Given the description of an element on the screen output the (x, y) to click on. 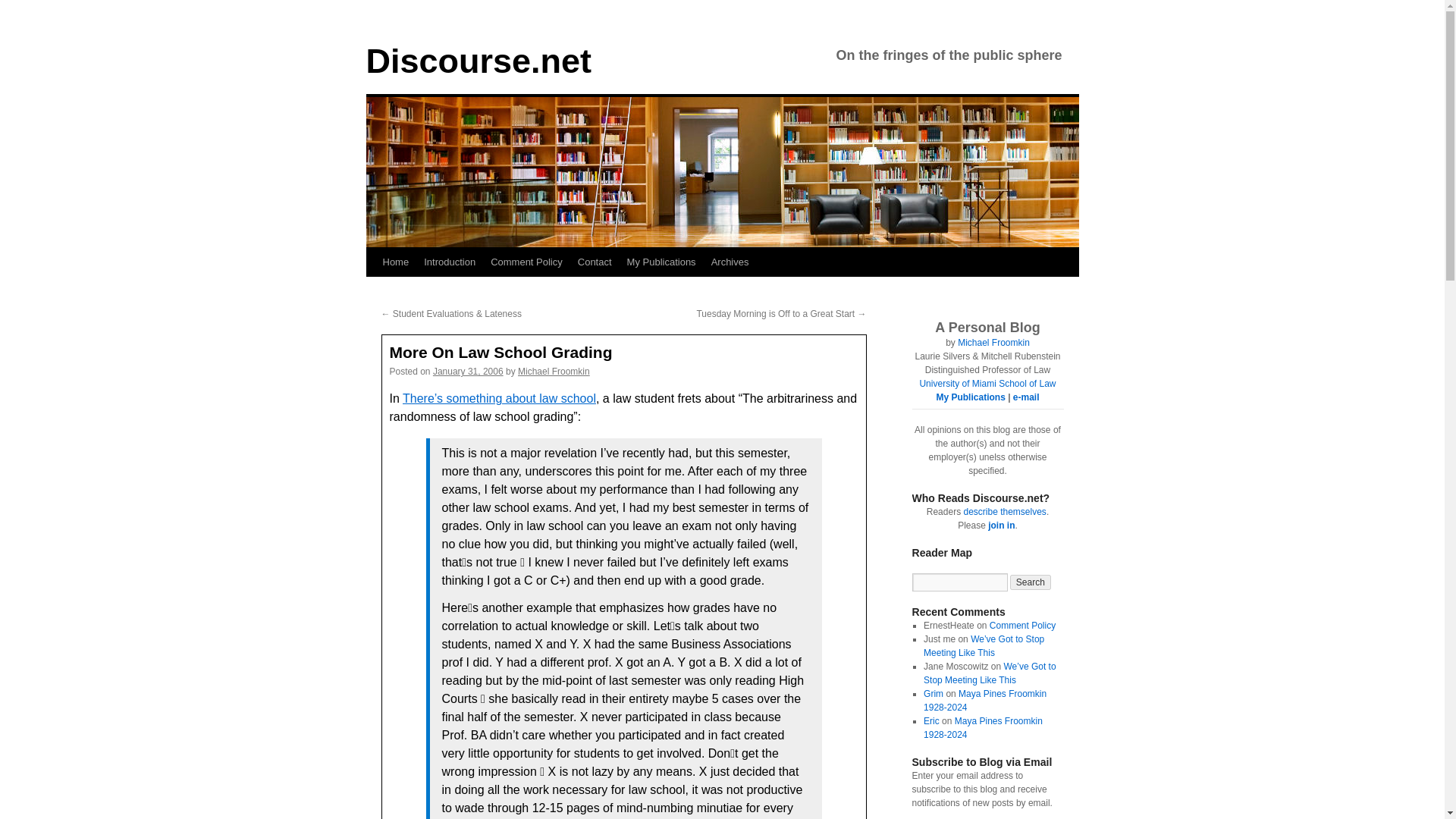
e-mail (1026, 397)
Eric (931, 720)
Discourse.net (478, 60)
My homepage (993, 342)
Most are available online (970, 397)
January 31, 2006 (467, 371)
Skip to content (372, 290)
Skip to content (372, 290)
Michael Froomkin (993, 342)
Discourse.net (478, 60)
My Publications (661, 262)
Search (1030, 581)
Introduction (449, 262)
Search (1030, 581)
Grim (933, 693)
